Given the description of an element on the screen output the (x, y) to click on. 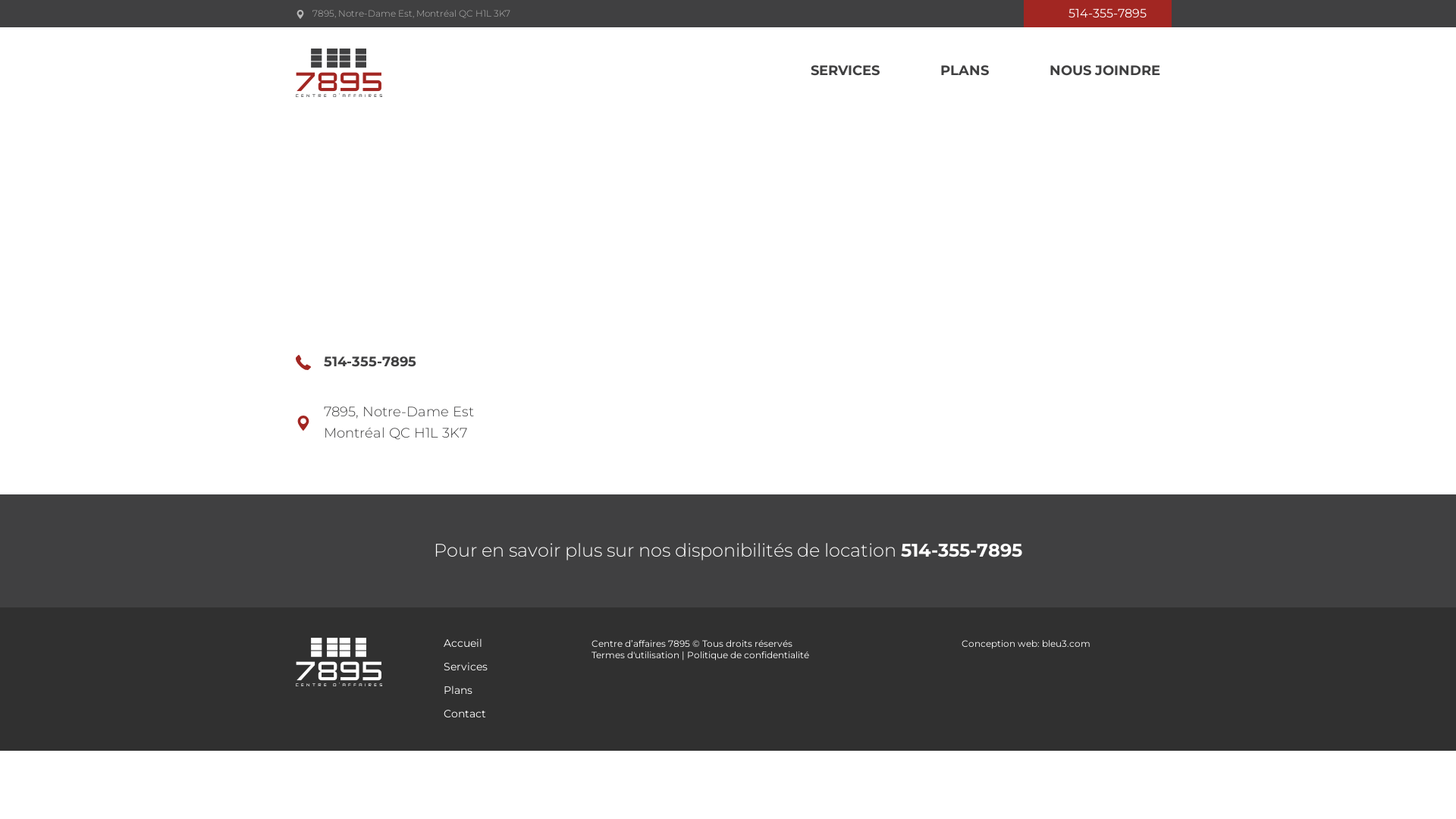
Termes d'utilisation Element type: text (635, 654)
Accueil Element type: text (462, 642)
SERVICES Element type: text (814, 70)
PLANS Element type: text (933, 70)
Contact Element type: text (464, 713)
514-355-7895 Element type: text (369, 361)
NOUS JOINDRE Element type: text (1074, 70)
514-355-7895 Element type: text (1097, 13)
bleu3.com Element type: text (1065, 643)
Plans Element type: text (457, 689)
Services Element type: text (465, 666)
